Given the description of an element on the screen output the (x, y) to click on. 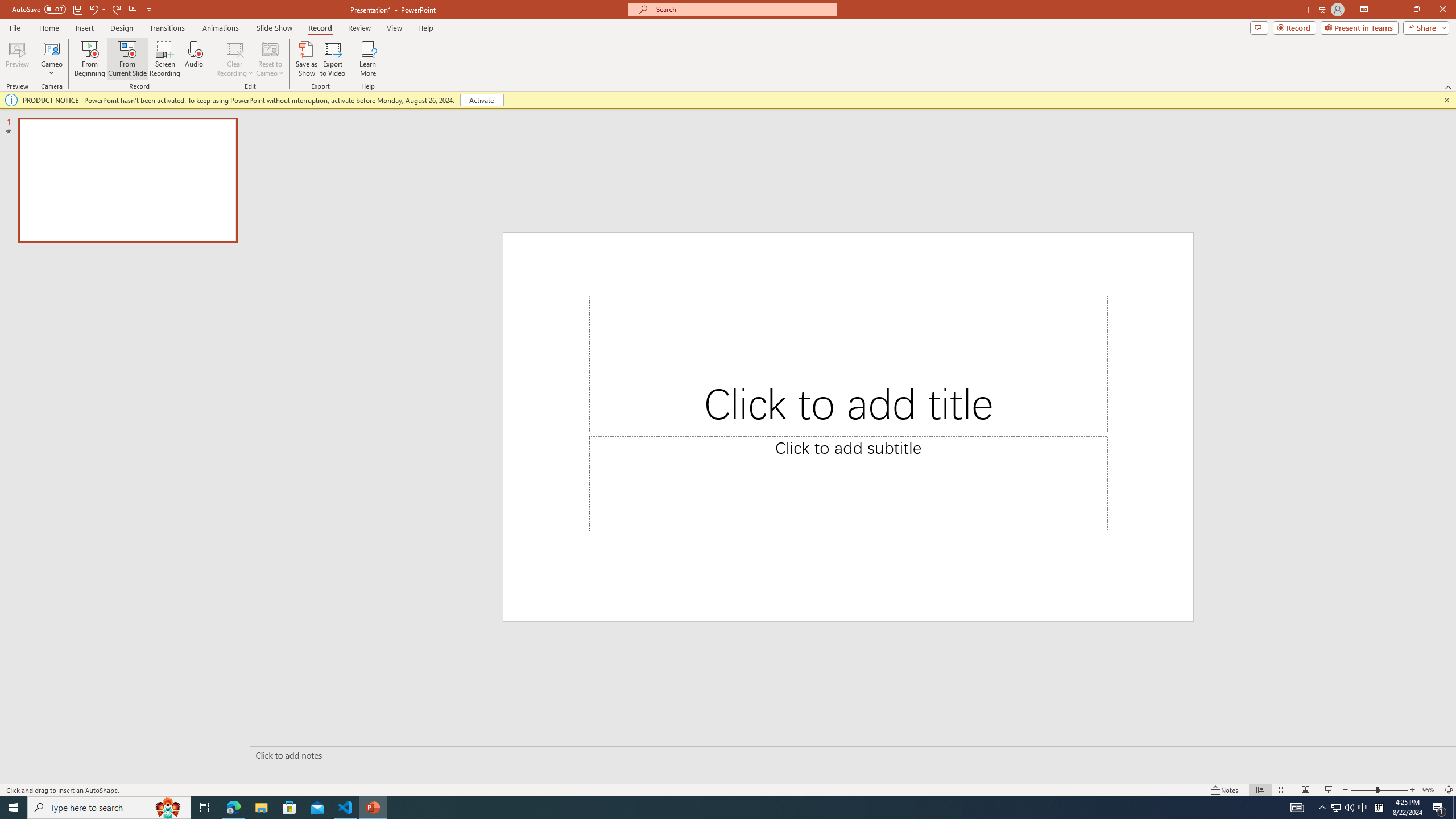
From Beginning... (89, 58)
